Given the description of an element on the screen output the (x, y) to click on. 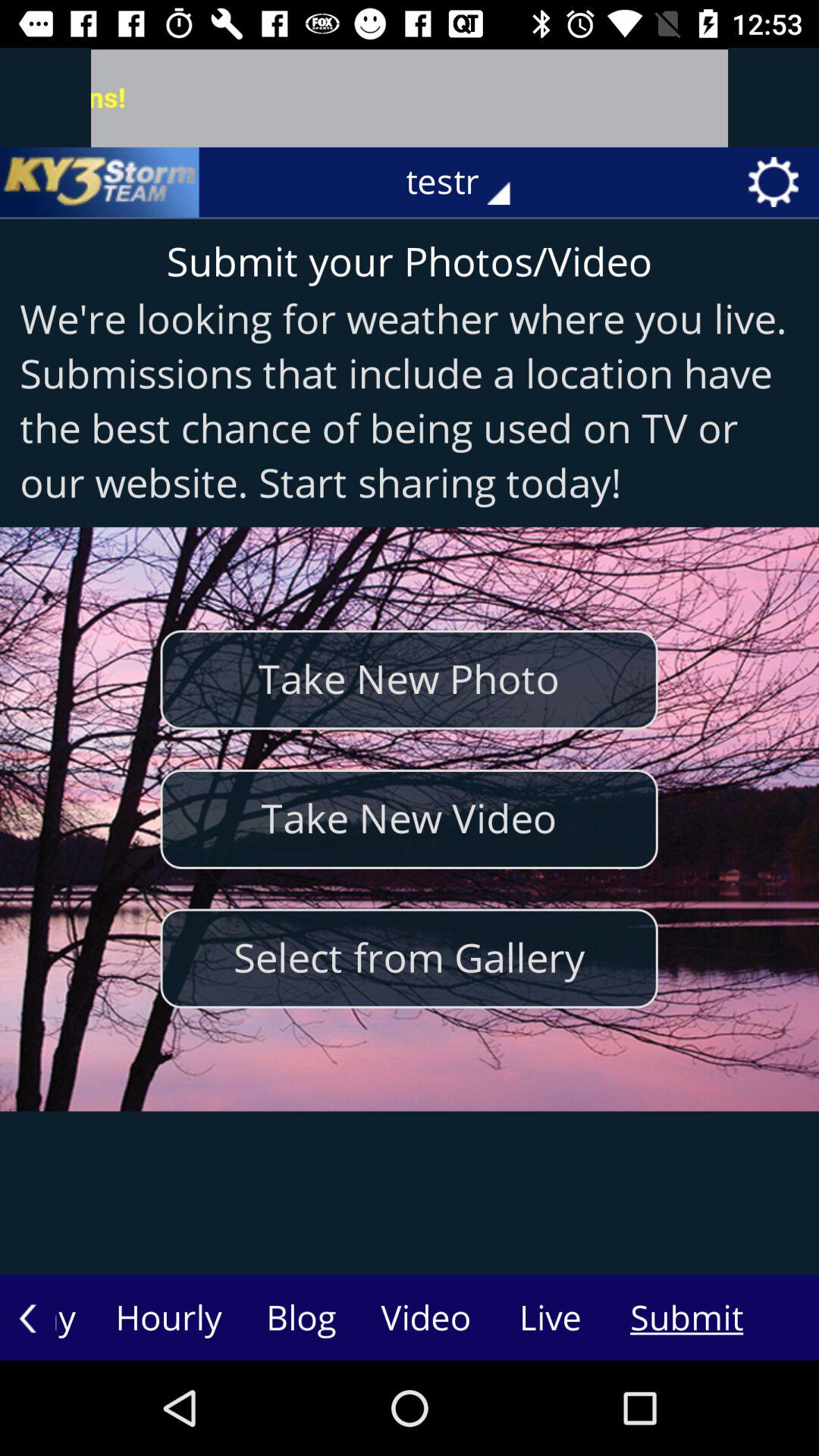
scroll until testr item (468, 182)
